Given the description of an element on the screen output the (x, y) to click on. 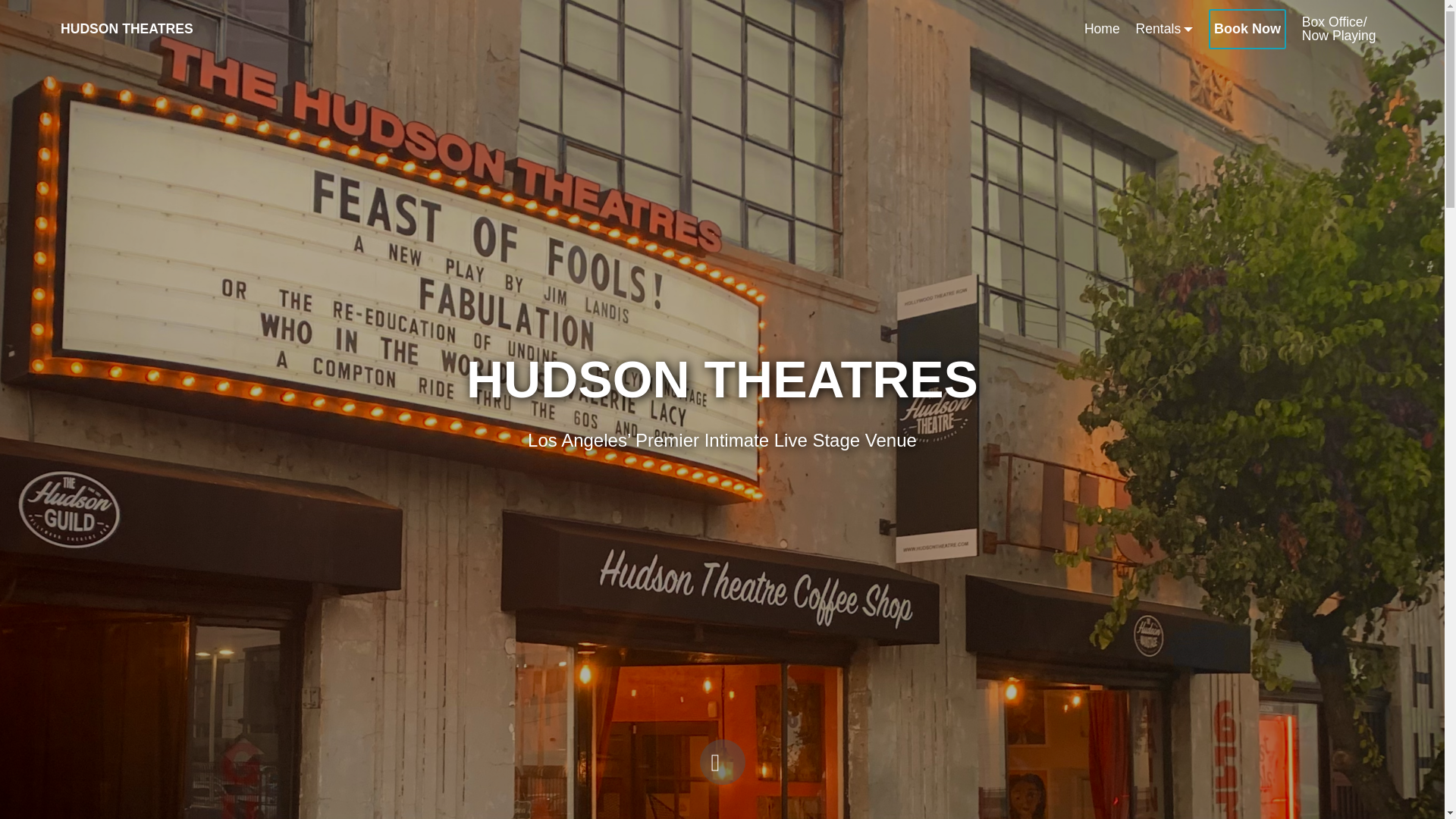
Rentals (1164, 29)
Box Office and Now Playing (1338, 29)
HUDSON THEATRES (138, 29)
 Book Now  (1246, 29)
Rentals (1164, 29)
Home (138, 29)
Home (1101, 29)
Home (1101, 29)
